Given the description of an element on the screen output the (x, y) to click on. 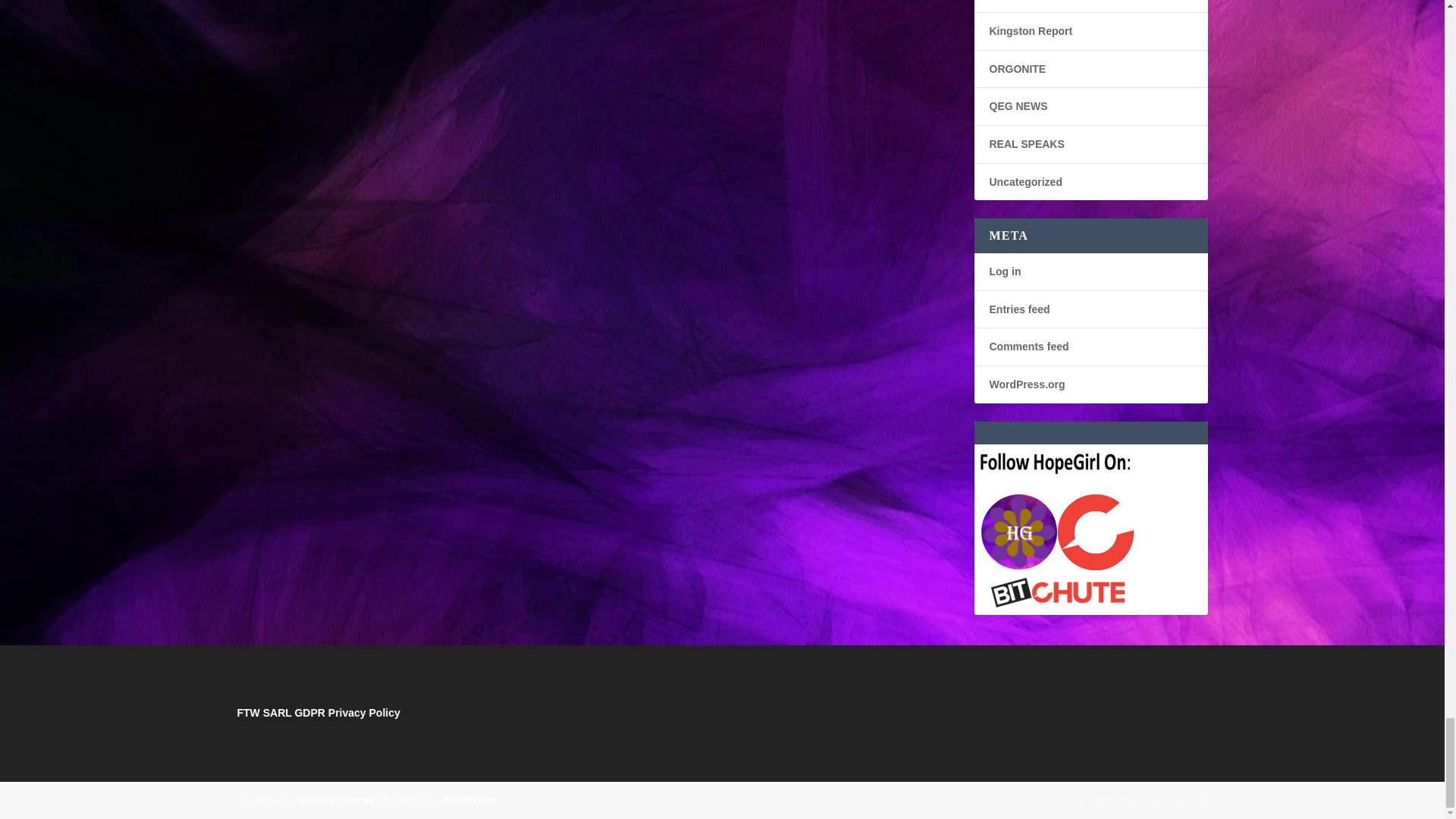
Latest updates on our QEG technology projects (1017, 105)
